Given the description of an element on the screen output the (x, y) to click on. 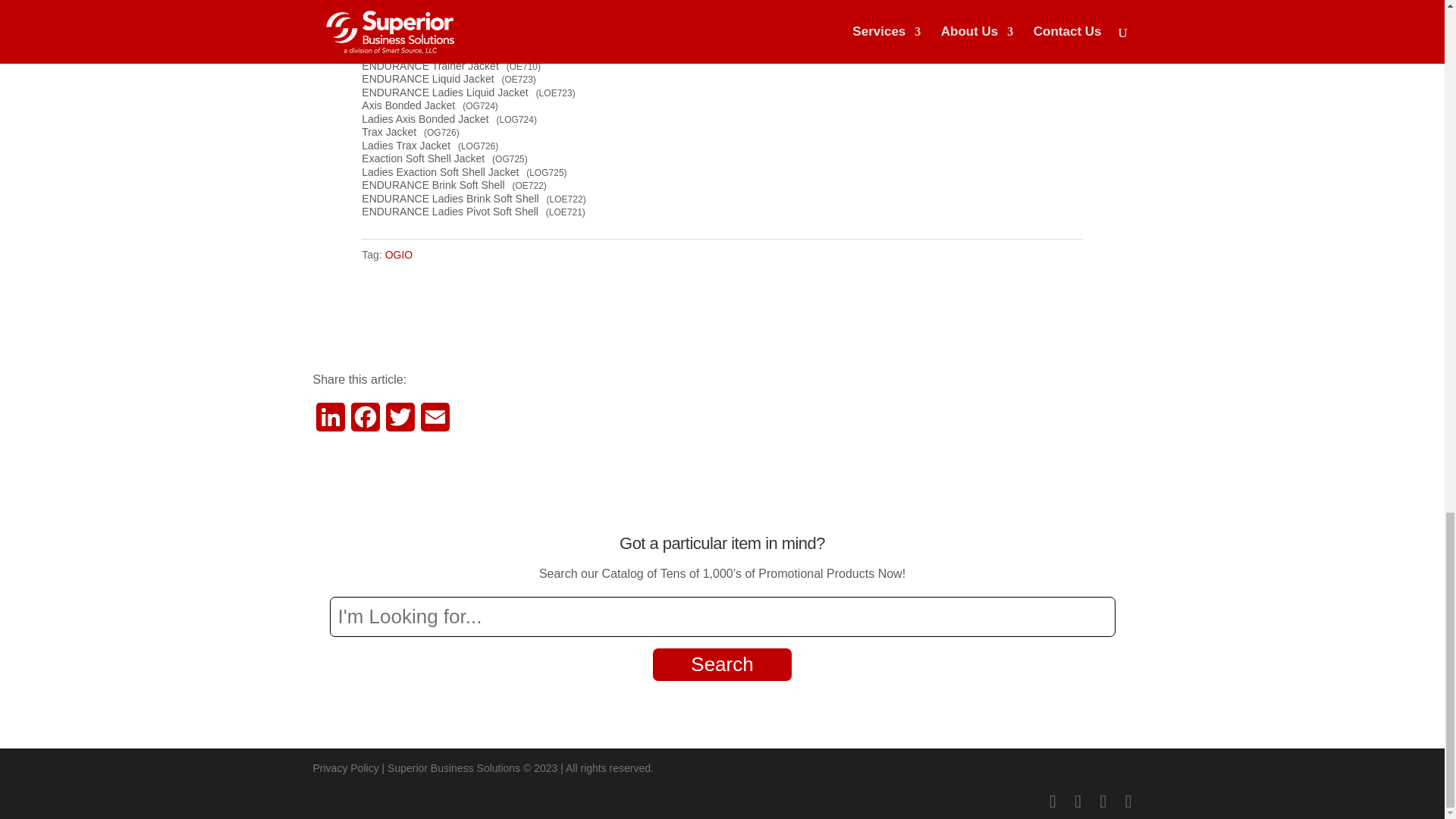
Email (433, 422)
Twitter (398, 422)
LinkedIn (330, 422)
Facebook (364, 422)
